Given the description of an element on the screen output the (x, y) to click on. 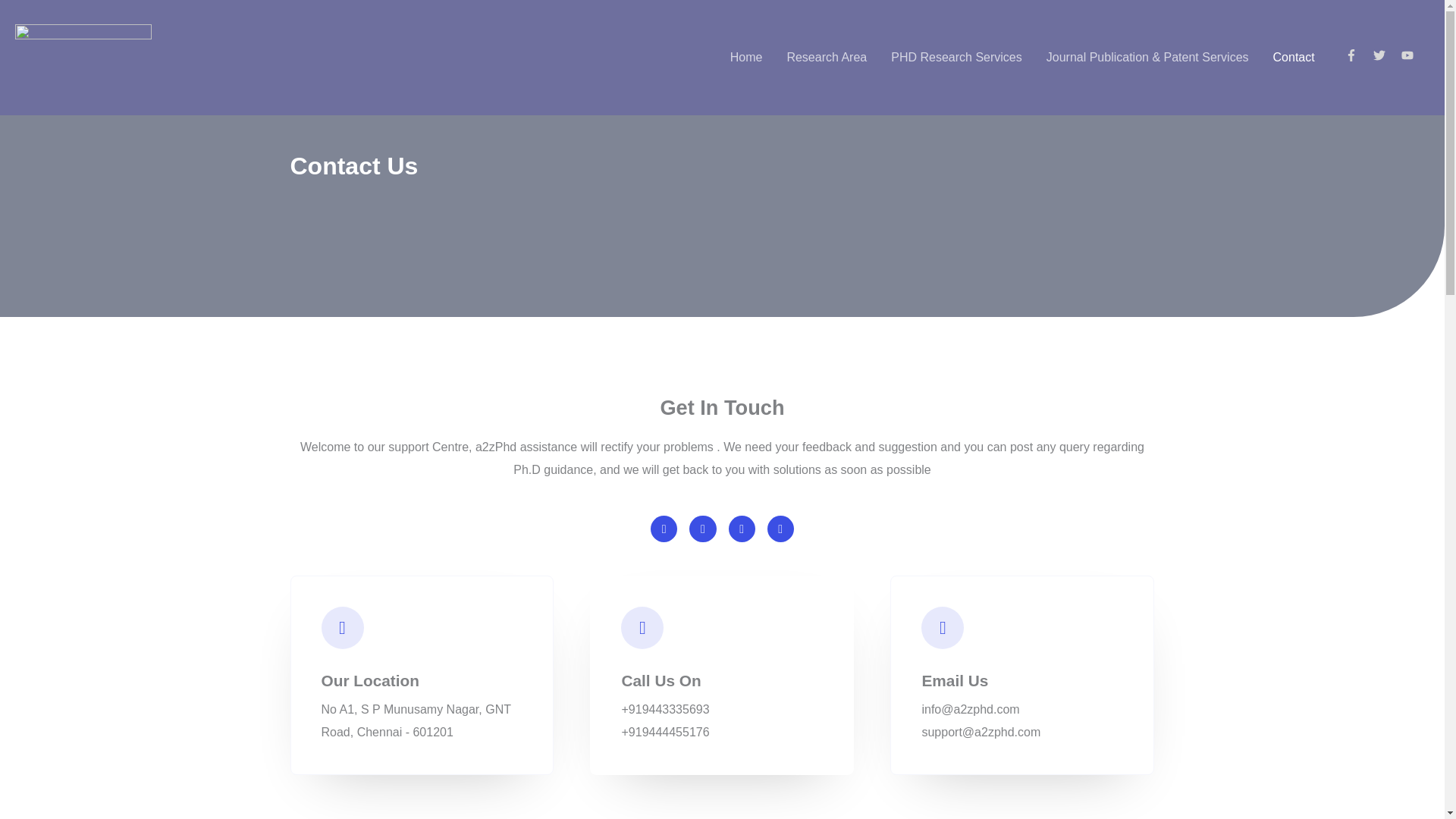
PHD Research Services (956, 57)
Contact (1293, 57)
Research Area (826, 57)
Home (745, 57)
